Given the description of an element on the screen output the (x, y) to click on. 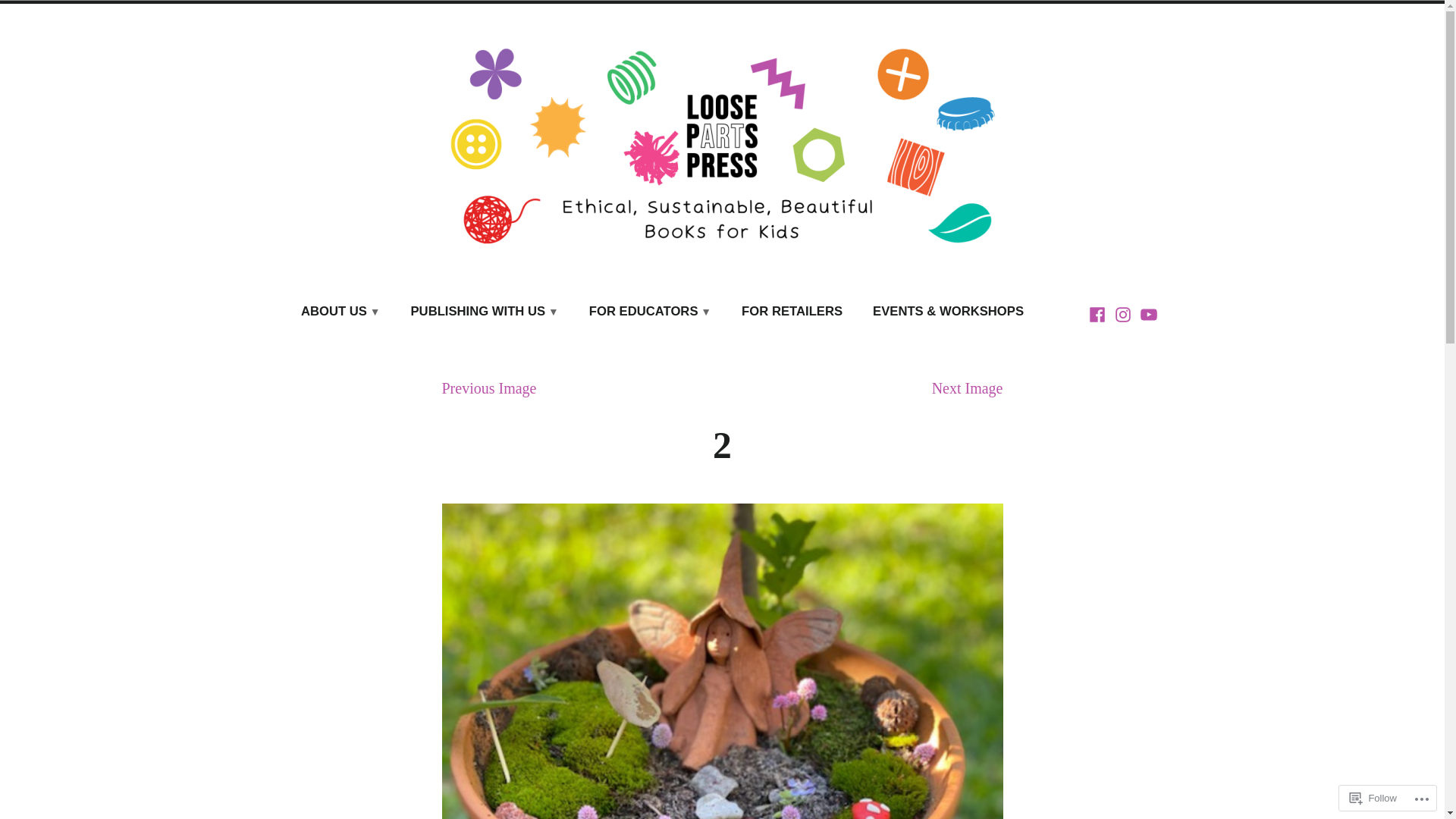
Previous Image Element type: text (488, 387)
FOR EDUCATORS Element type: text (650, 312)
Loose Parts Press Element type: text (222, 295)
ABOUT US Element type: text (340, 312)
EVENTS & WORKSHOPS Element type: text (947, 312)
Next Image Element type: text (967, 387)
Follow Element type: text (1372, 797)
FOR RETAILERS Element type: text (791, 312)
PUBLISHING WITH US Element type: text (484, 312)
